Given the description of an element on the screen output the (x, y) to click on. 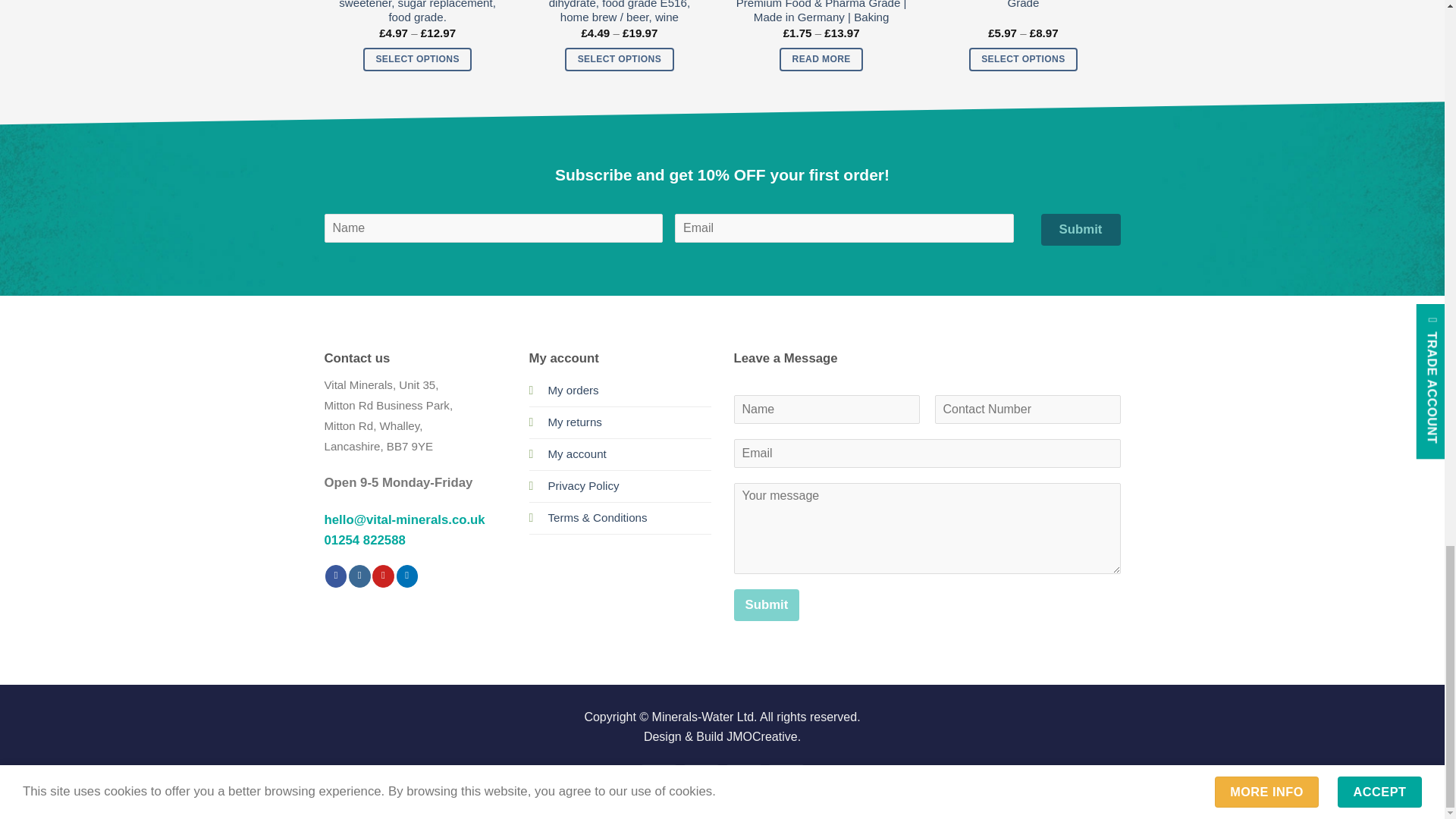
Follow on Facebook (335, 576)
Submit (389, 111)
Follow on Pinterest (383, 576)
Follow on Instagram (360, 576)
